Given the description of an element on the screen output the (x, y) to click on. 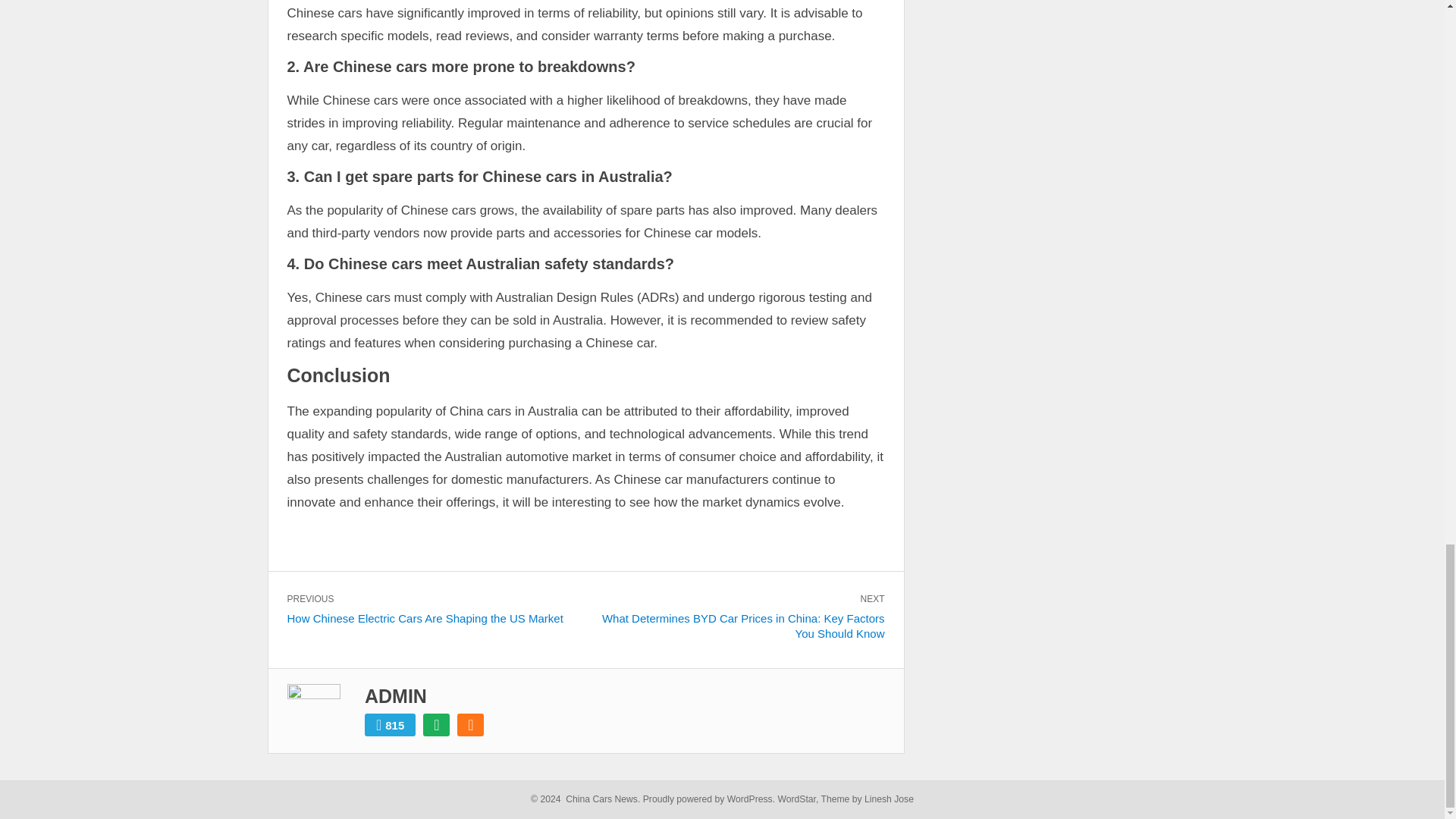
ADMIN (395, 695)
Posts by admin (395, 695)
Theme by Linesh Jose (866, 798)
Author's Website (436, 724)
815 Posts (389, 724)
WordStar (796, 798)
Proudly powered by WordPress. (708, 798)
Subscribe RSS Feed (470, 724)
815 (389, 724)
